Given the description of an element on the screen output the (x, y) to click on. 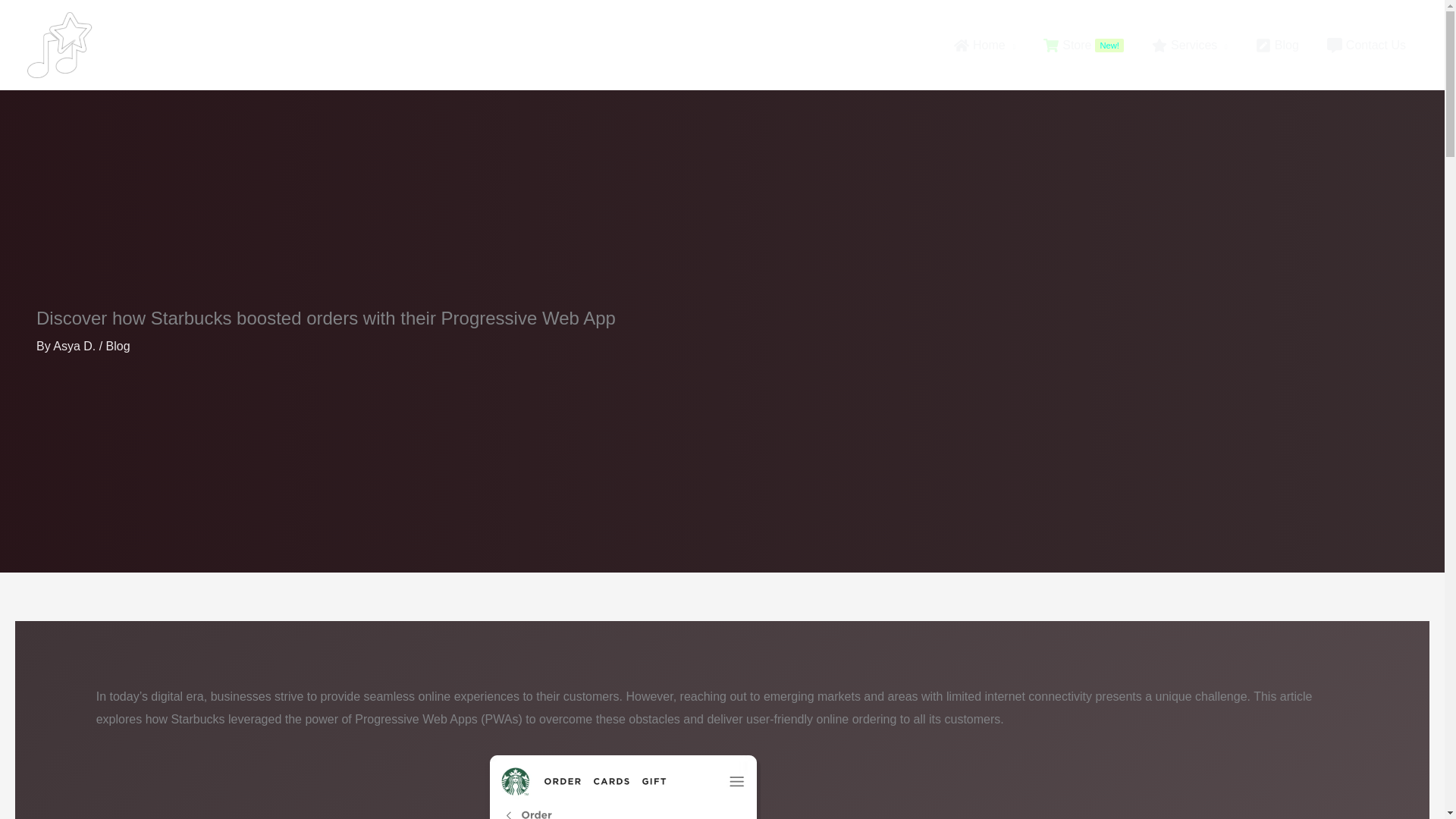
Services (1187, 44)
View all posts by  (1081, 44)
Home (75, 345)
